Given the description of an element on the screen output the (x, y) to click on. 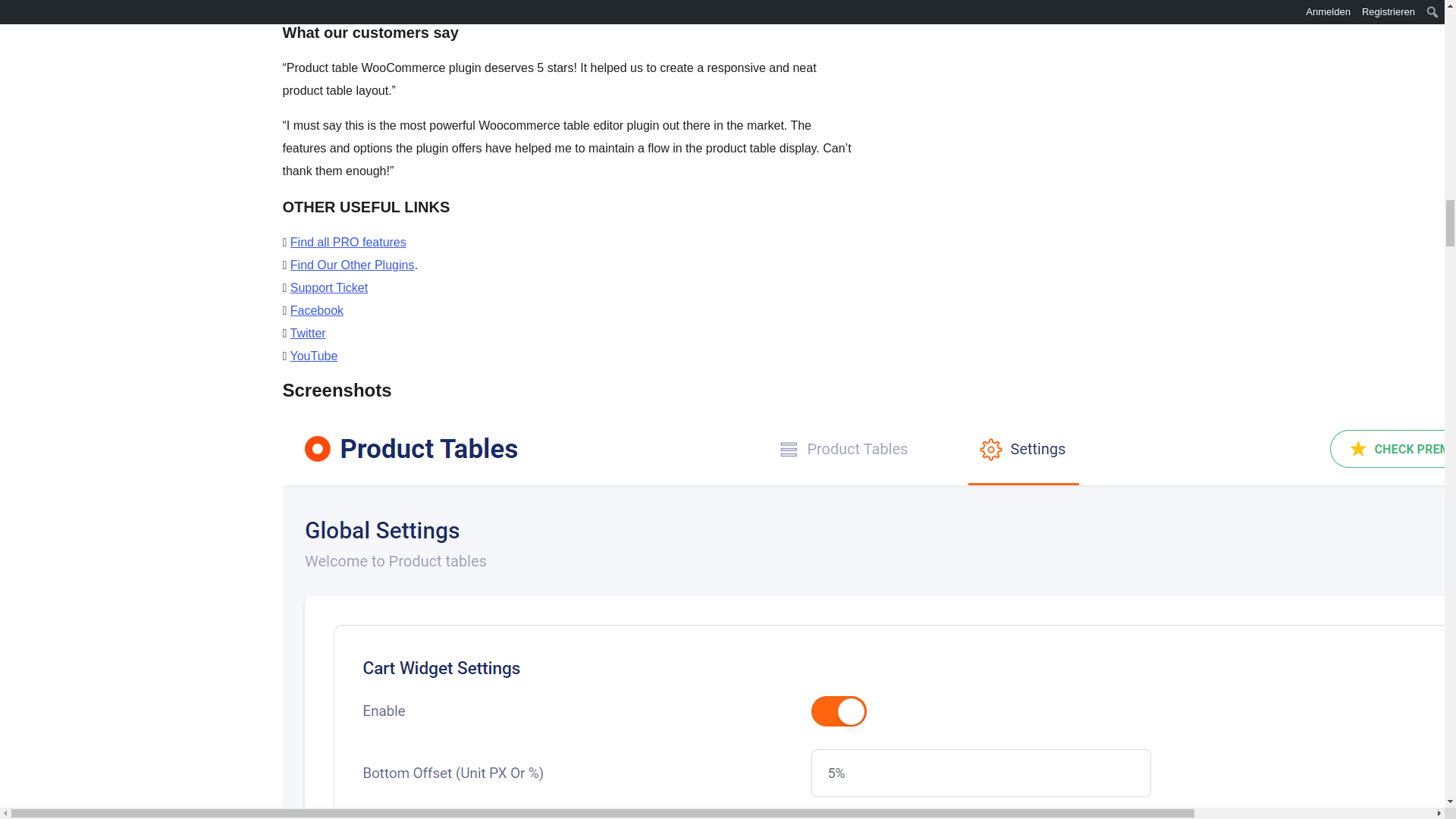
Find all PRO features (347, 241)
here (509, 1)
Find Our Other Plugins (351, 264)
